Given the description of an element on the screen output the (x, y) to click on. 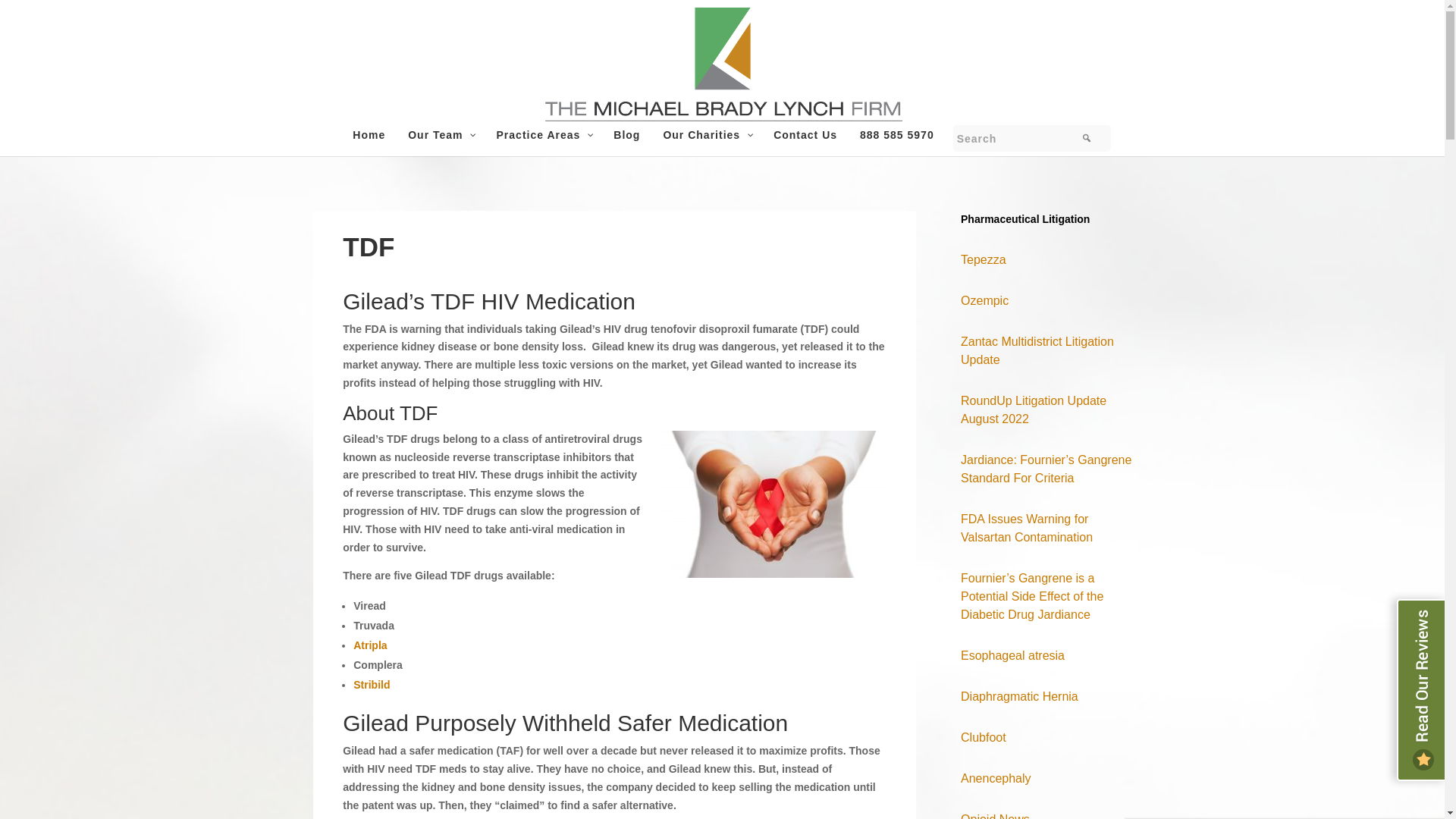
Home (368, 142)
Our Team (440, 142)
Practice Areas (543, 142)
